Given the description of an element on the screen output the (x, y) to click on. 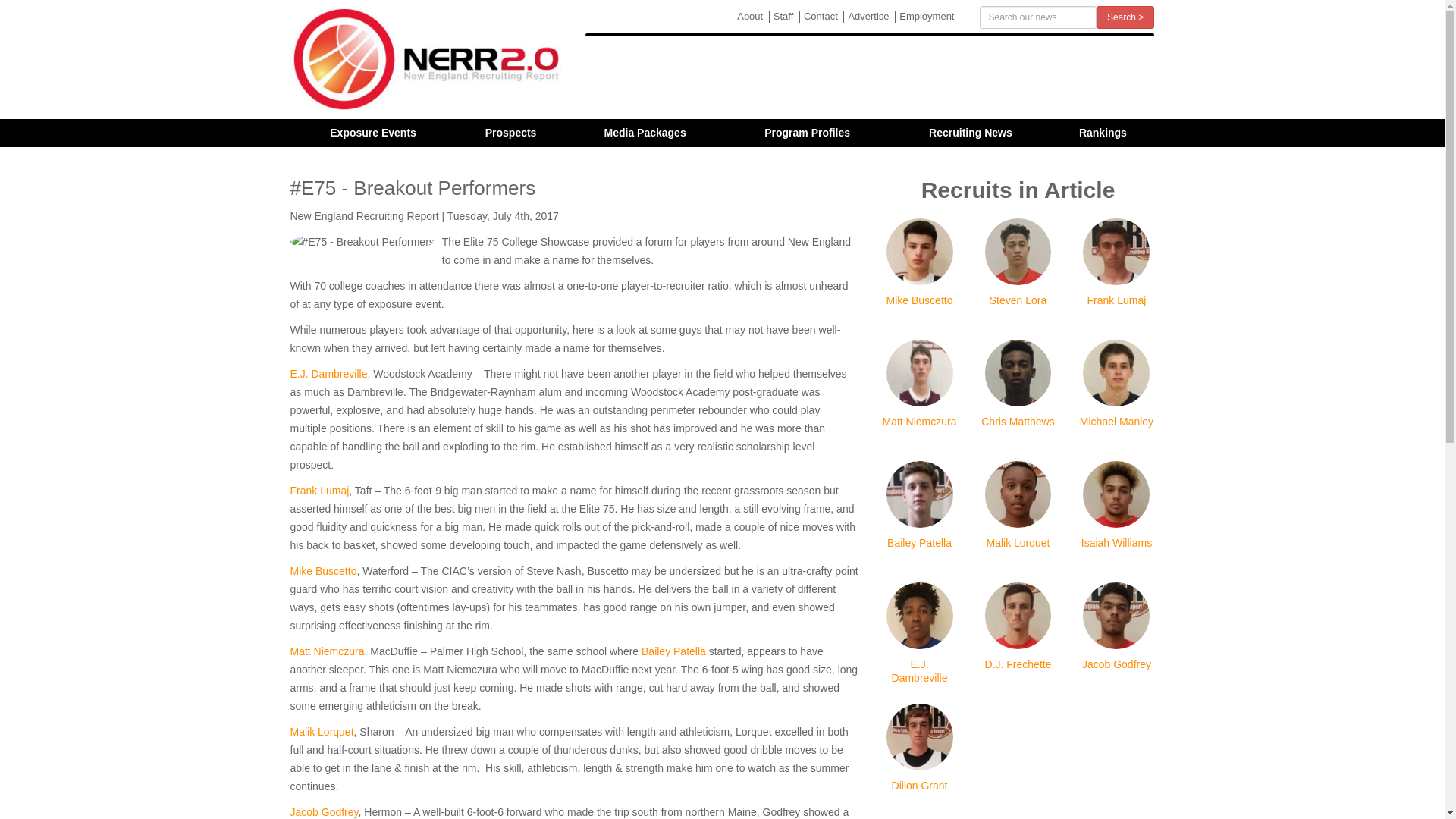
E.J. Dambreville (327, 373)
Program Profiles (807, 132)
Employment (925, 16)
About (749, 16)
New England Recruiting Report (425, 59)
Advertise (867, 16)
Exposure Events (372, 132)
Recruiting News (970, 132)
Prospects (510, 132)
Staff (783, 16)
